Given the description of an element on the screen output the (x, y) to click on. 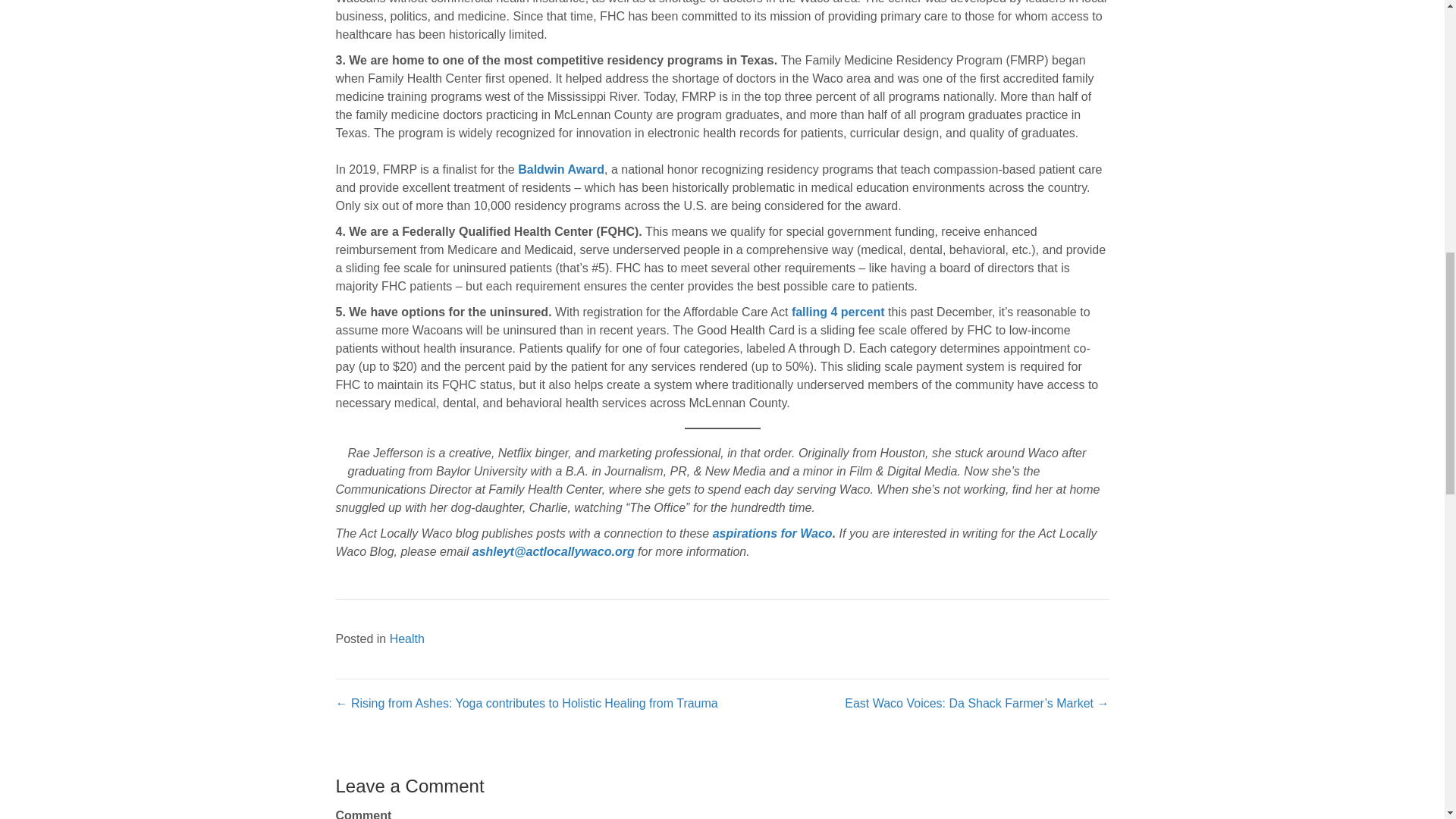
aspirations for Waco (772, 533)
falling 4 percent (838, 311)
Baldwin Award (561, 169)
Health (407, 638)
